Given the description of an element on the screen output the (x, y) to click on. 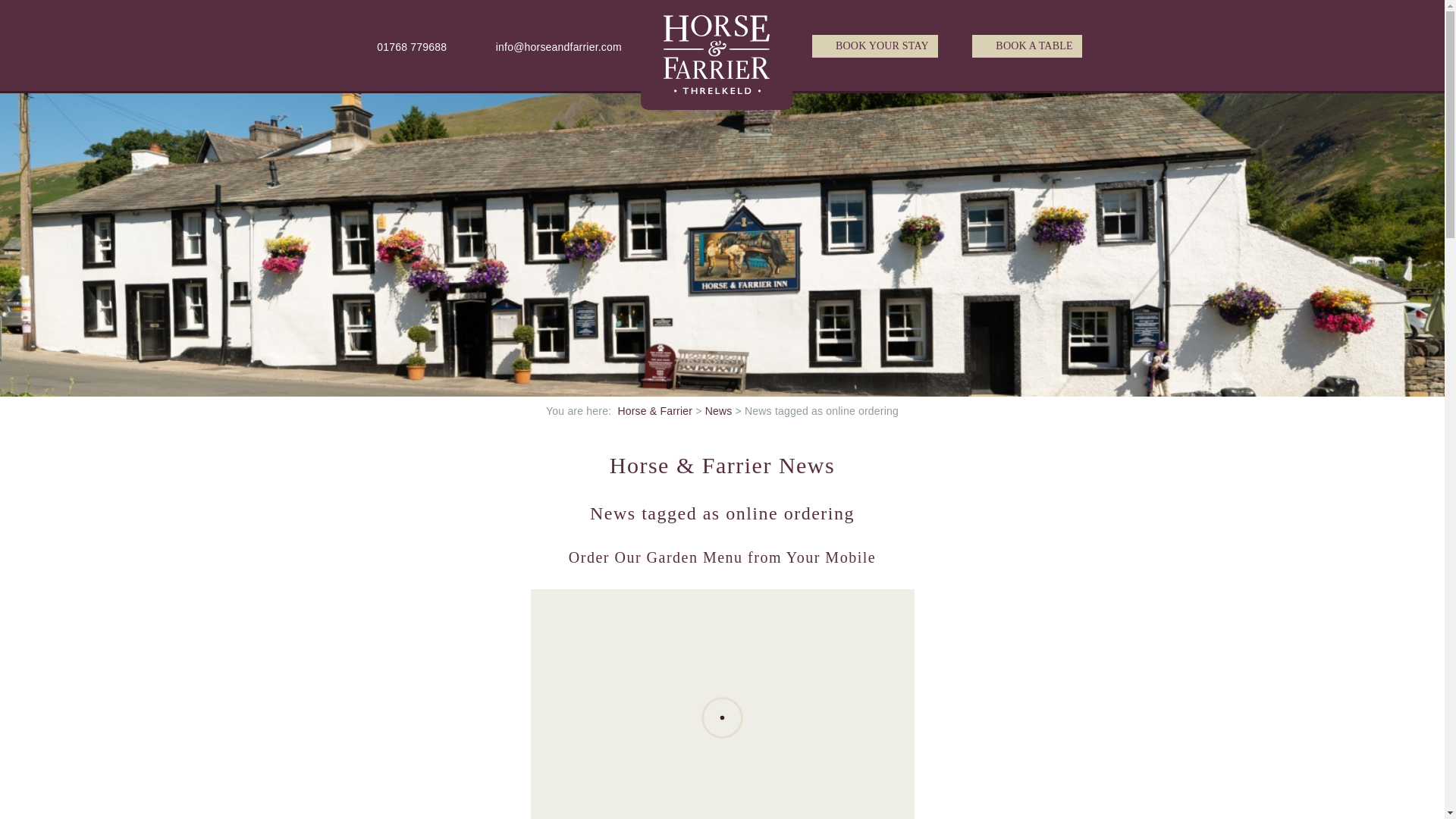
01768 779688 (404, 45)
BOOK A TABLE (1026, 46)
BOOK YOUR STAY (874, 46)
Return to Home Page (716, 52)
